Given the description of an element on the screen output the (x, y) to click on. 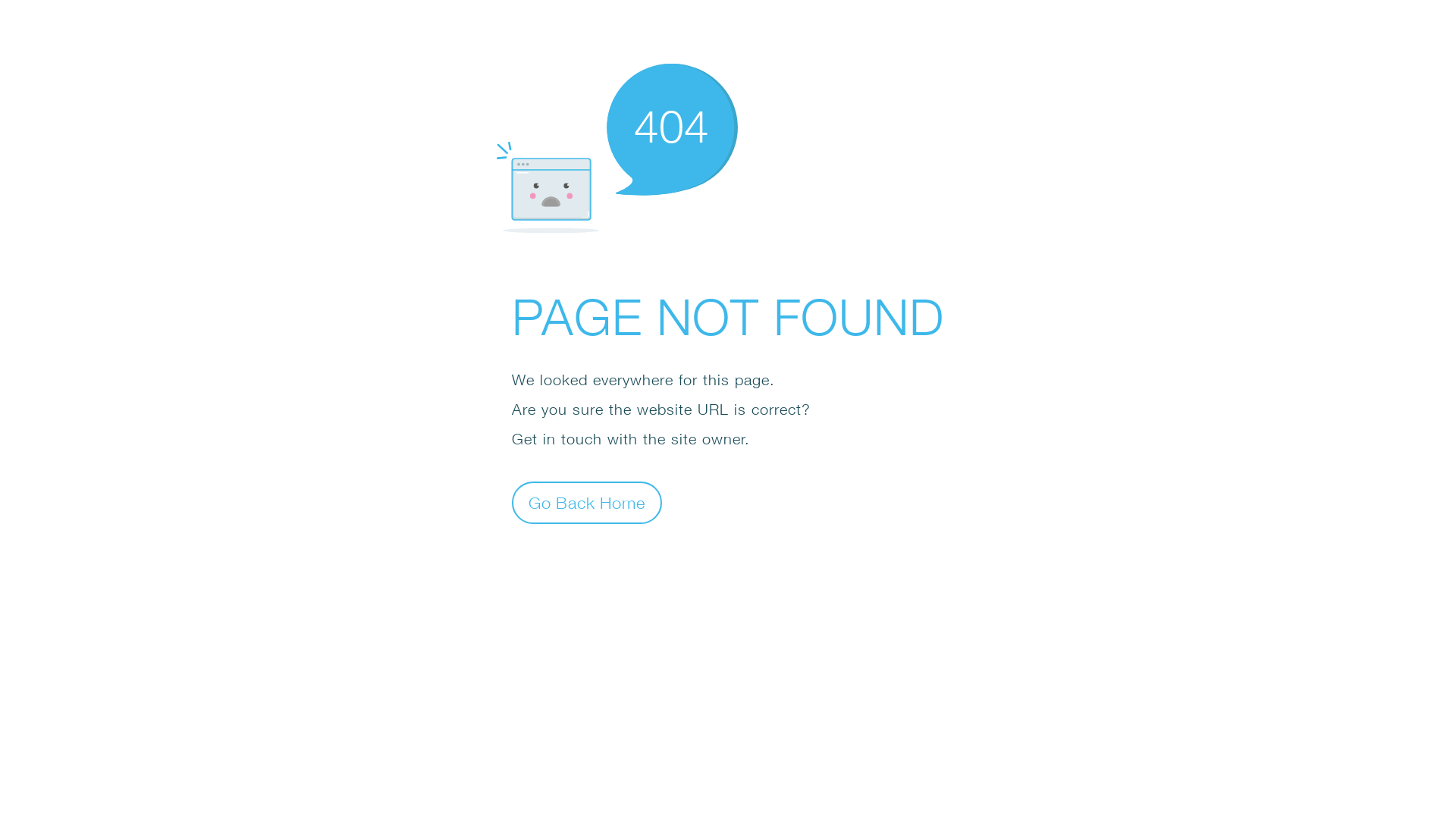
Go Back Home Element type: text (586, 502)
